Given the description of an element on the screen output the (x, y) to click on. 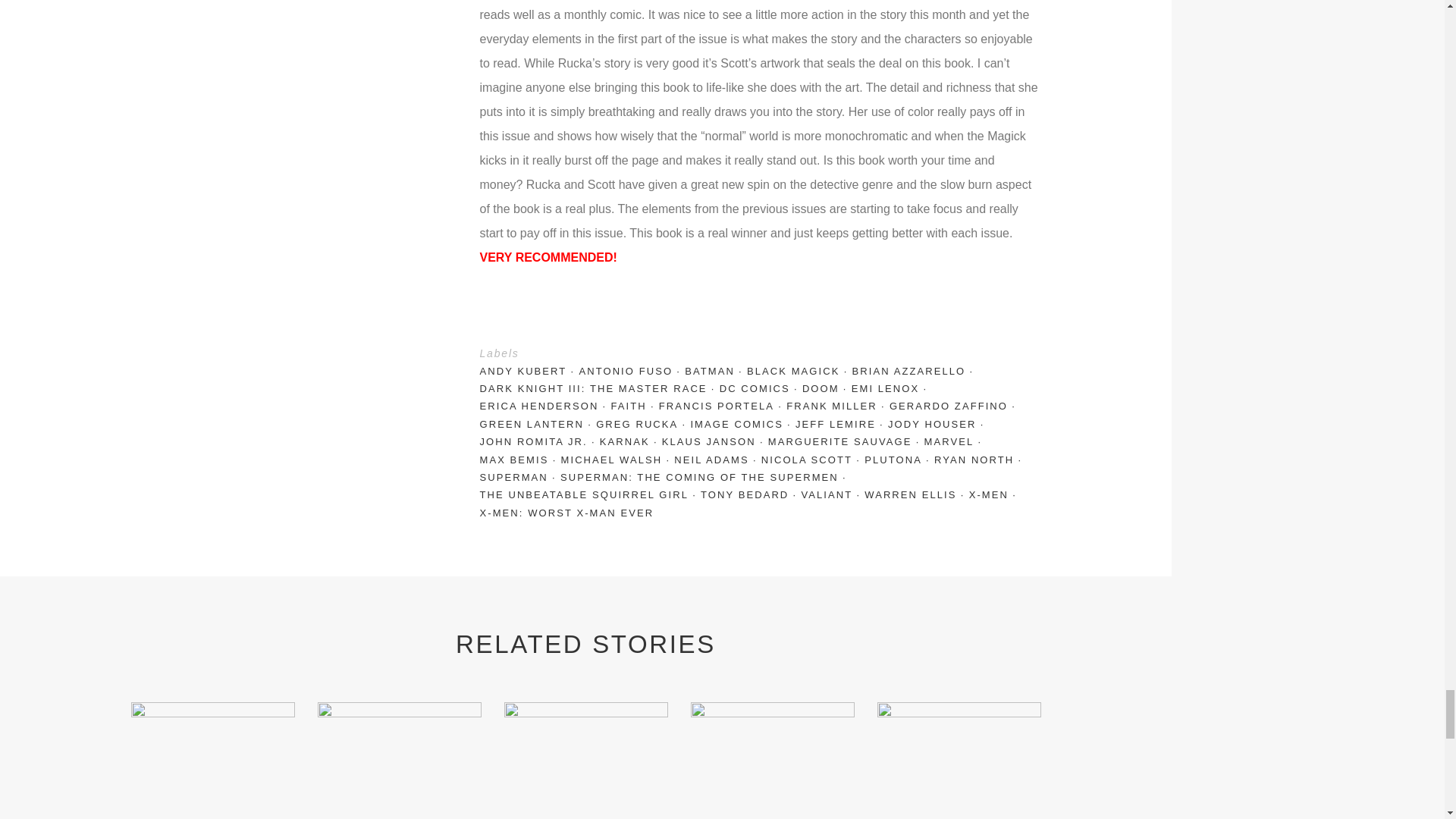
BATMAN (715, 371)
BLACK MAGICK (798, 371)
EMI LENOX (891, 388)
ANTONIO FUSO (631, 371)
ANDY KUBERT (528, 371)
DARK KNIGHT III: THE MASTER RACE (599, 388)
DOOM (826, 388)
DC COMICS (760, 388)
ERICA HENDERSON (544, 405)
BRIAN AZZARELLO (914, 371)
